Given the description of an element on the screen output the (x, y) to click on. 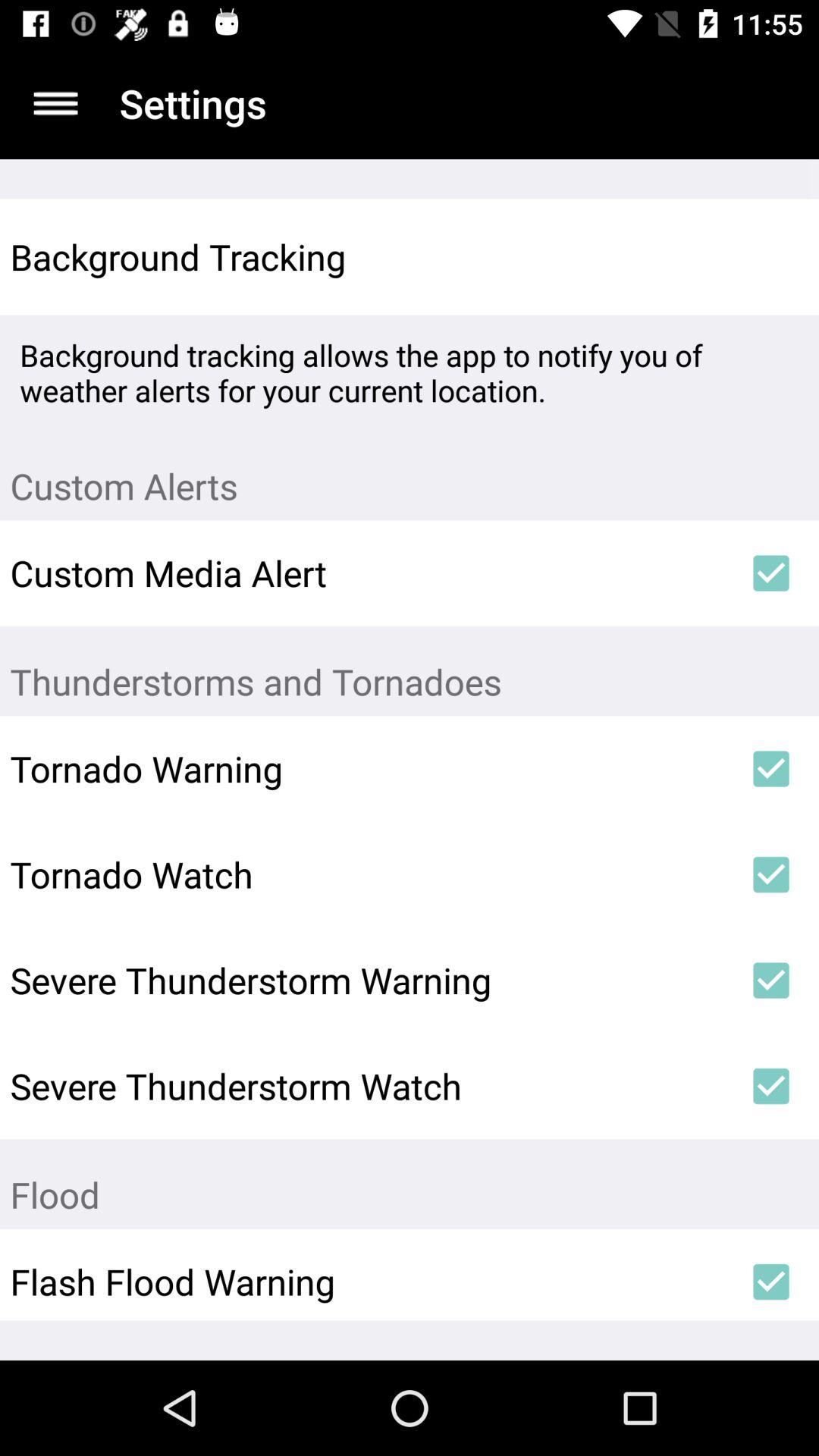
launch item below flood icon (771, 1281)
